Given the description of an element on the screen output the (x, y) to click on. 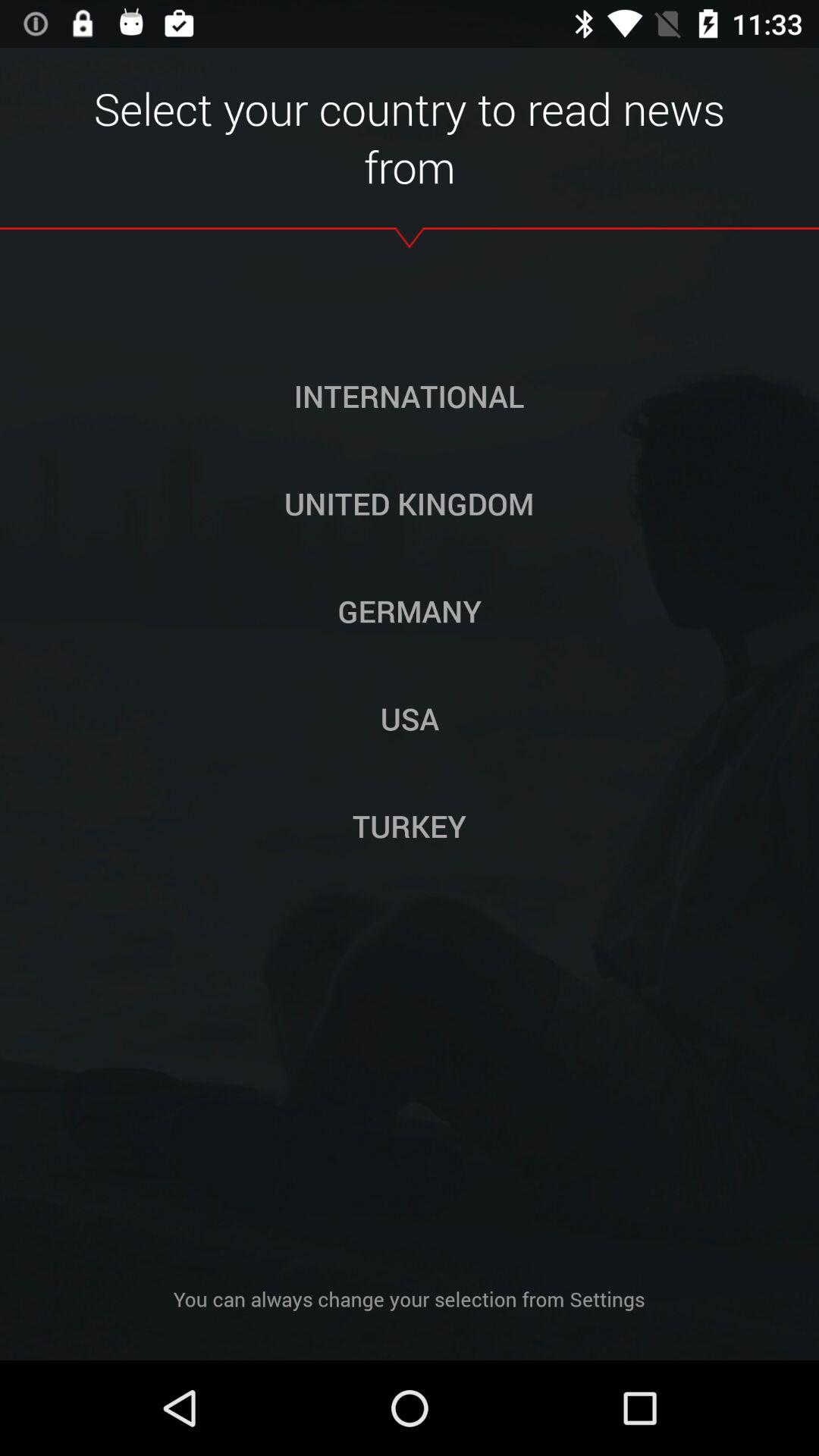
scroll until turkey button (409, 825)
